Given the description of an element on the screen output the (x, y) to click on. 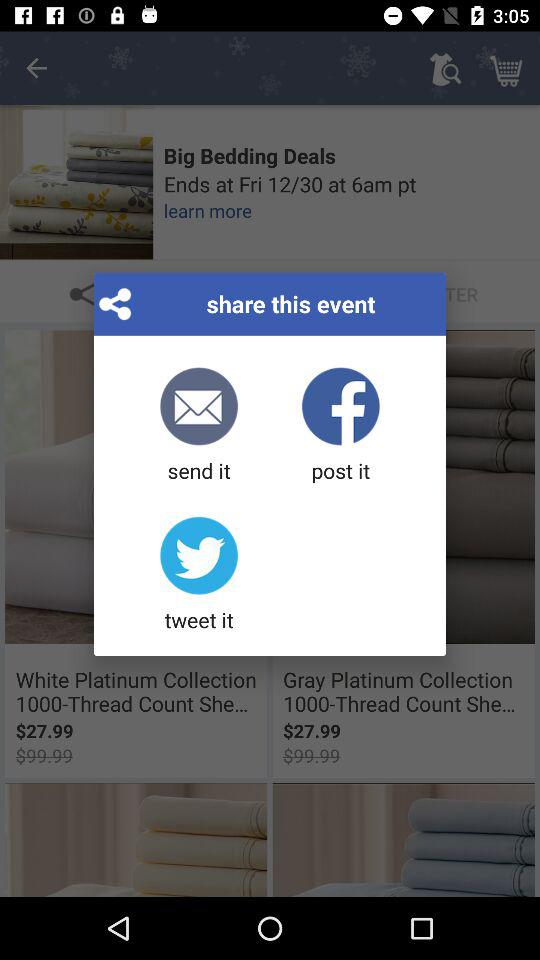
select icon below send it (198, 575)
